Given the description of an element on the screen output the (x, y) to click on. 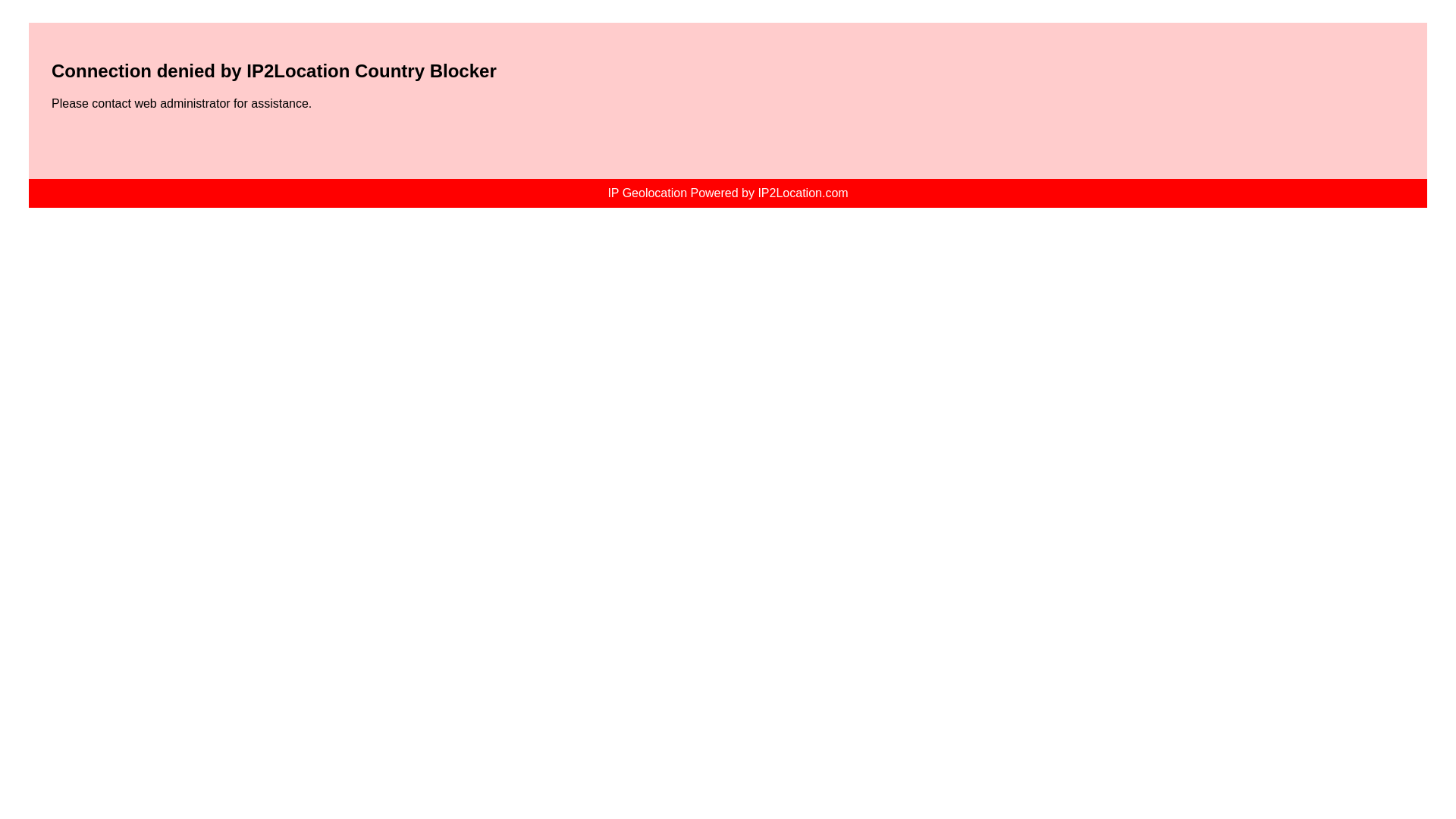
IP Geolocation Powered by IP2Location.com (727, 192)
